Given the description of an element on the screen output the (x, y) to click on. 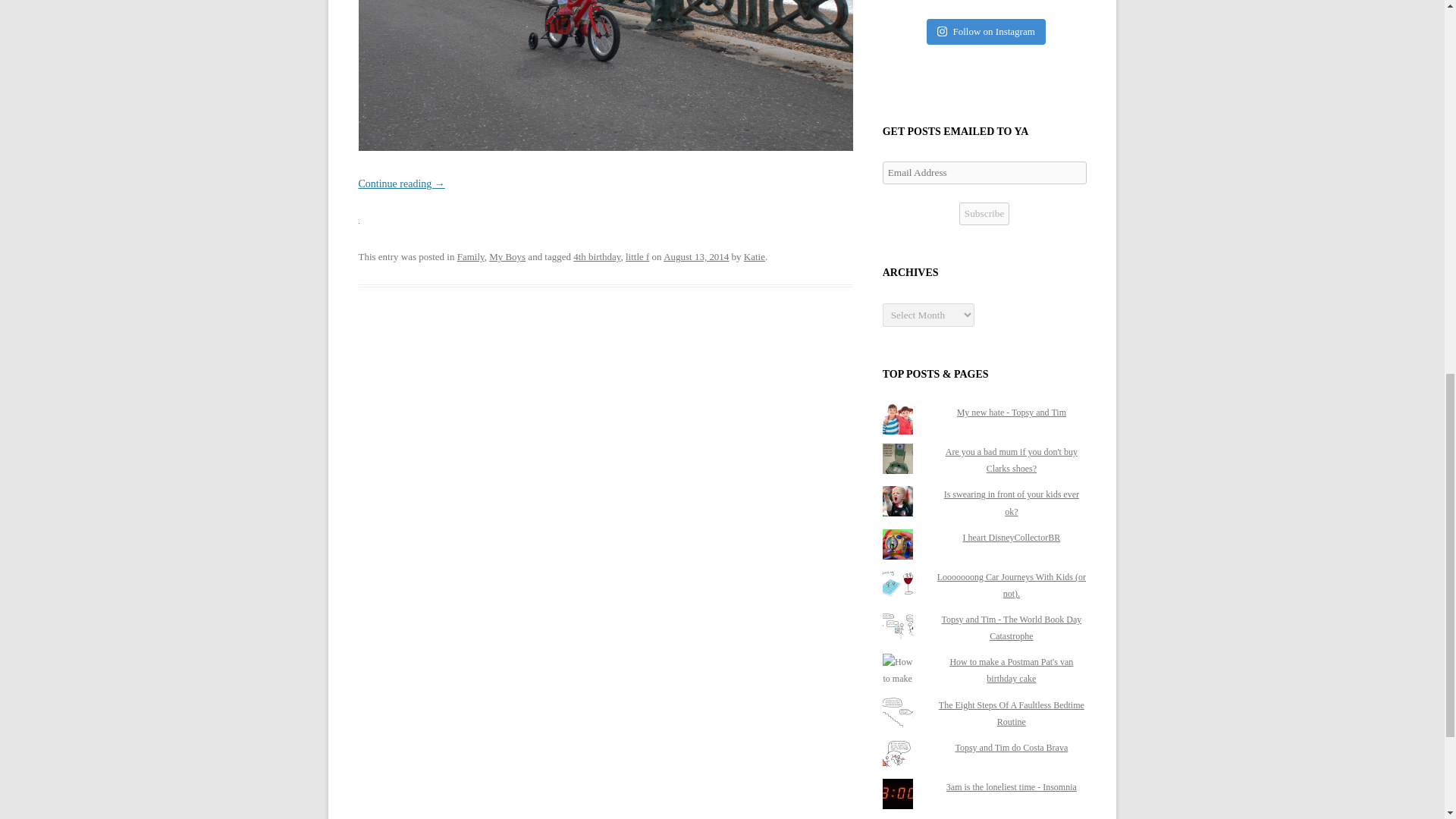
How to make a Postman Pat's van birthday cake (1011, 669)
I heart DisneyCollectorBR (1011, 537)
My new hate - Topsy and Tim (1010, 412)
Is swearing in front of your kids ever ok? (1010, 502)
As it's now officially December I feel I can final (1033, 3)
August 13, 2014 (696, 256)
Topsy and Tim - The World Book Day Catastrophe (1010, 627)
4th birthday (596, 256)
I am SO excited today to share with you the cover (934, 3)
My new hate - Topsy and Tim (1010, 412)
Is swearing in front of your kids ever ok? (1010, 502)
The Eight Steps Of A Faultless Bedtime Routine (1011, 713)
Family (470, 256)
Are you a bad mum if you don't buy Clarks shoes? (1010, 460)
Katie (754, 256)
